Given the description of an element on the screen output the (x, y) to click on. 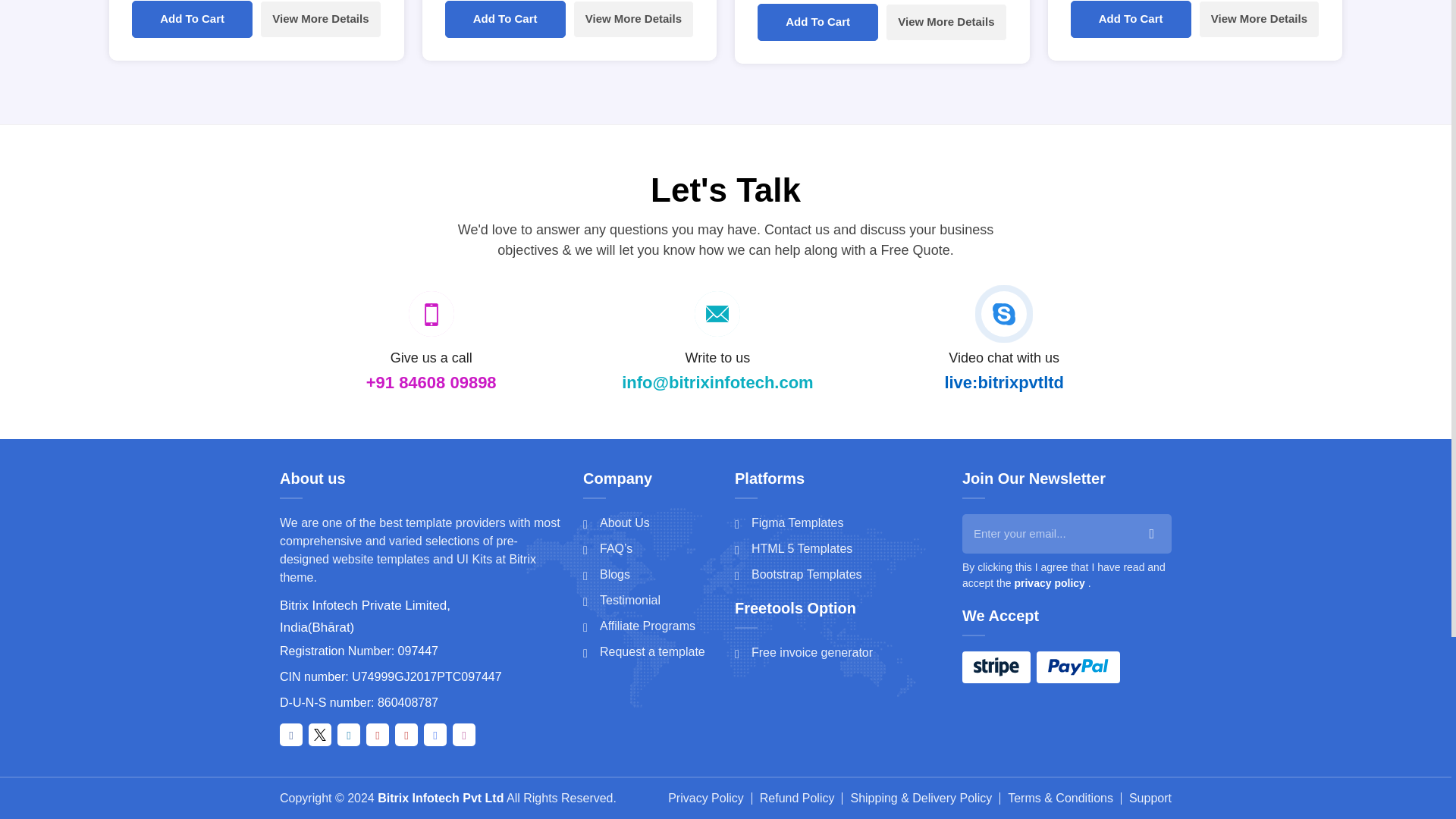
Behance (434, 734)
Instagram (405, 734)
Twitter (319, 734)
Facebook (290, 734)
YouTube (377, 734)
Dribbble (464, 734)
Linkedin (348, 734)
